Given the description of an element on the screen output the (x, y) to click on. 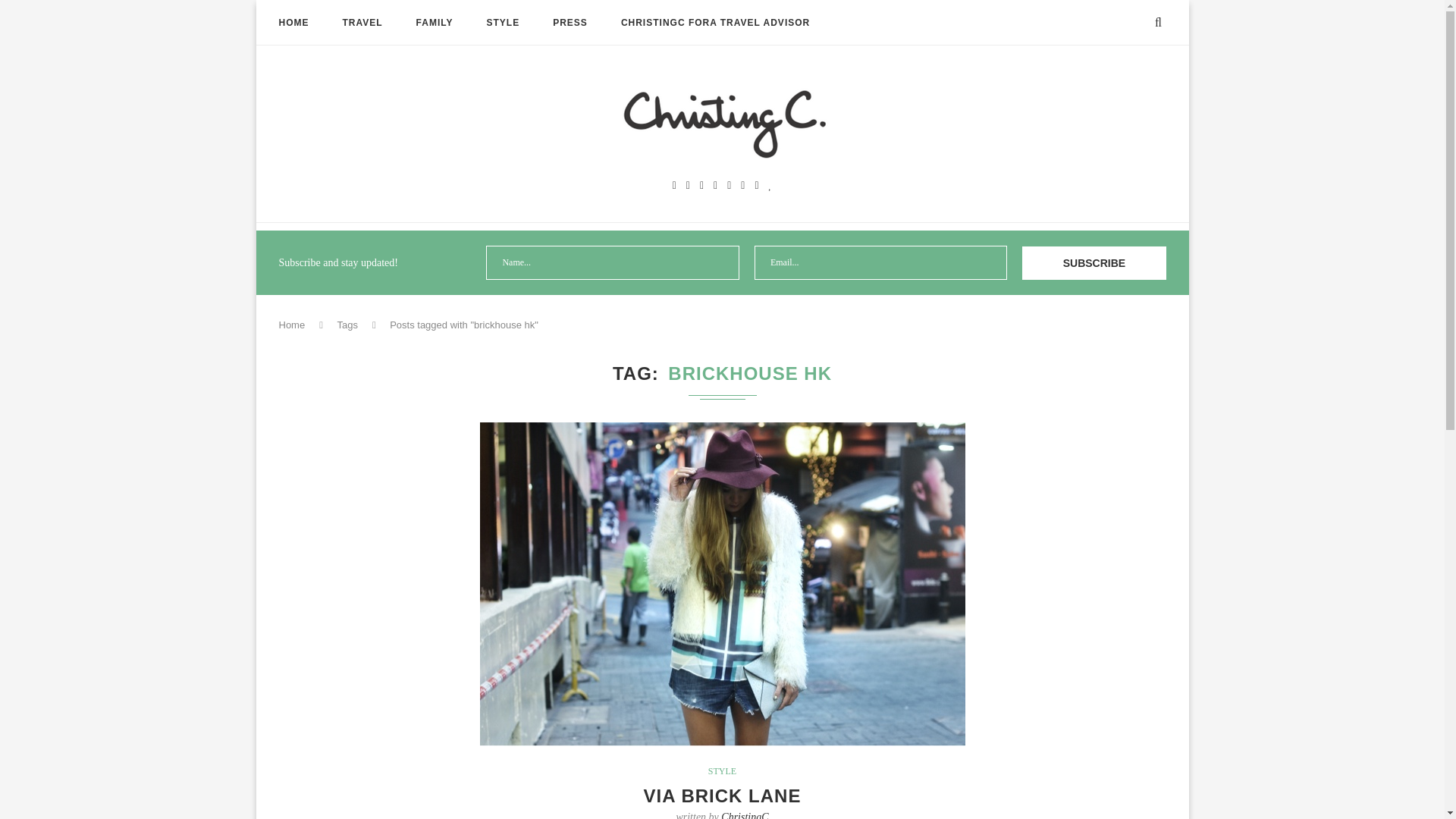
Subscribe (1094, 262)
STYLE (721, 770)
VIA BRICK LANE (722, 795)
Home (292, 324)
ChristingC (744, 815)
Subscribe (1094, 262)
CHRISTINGC FORA TRAVEL ADVISOR (715, 22)
TRAVEL (362, 22)
View all posts in Style (721, 770)
